Given the description of an element on the screen output the (x, y) to click on. 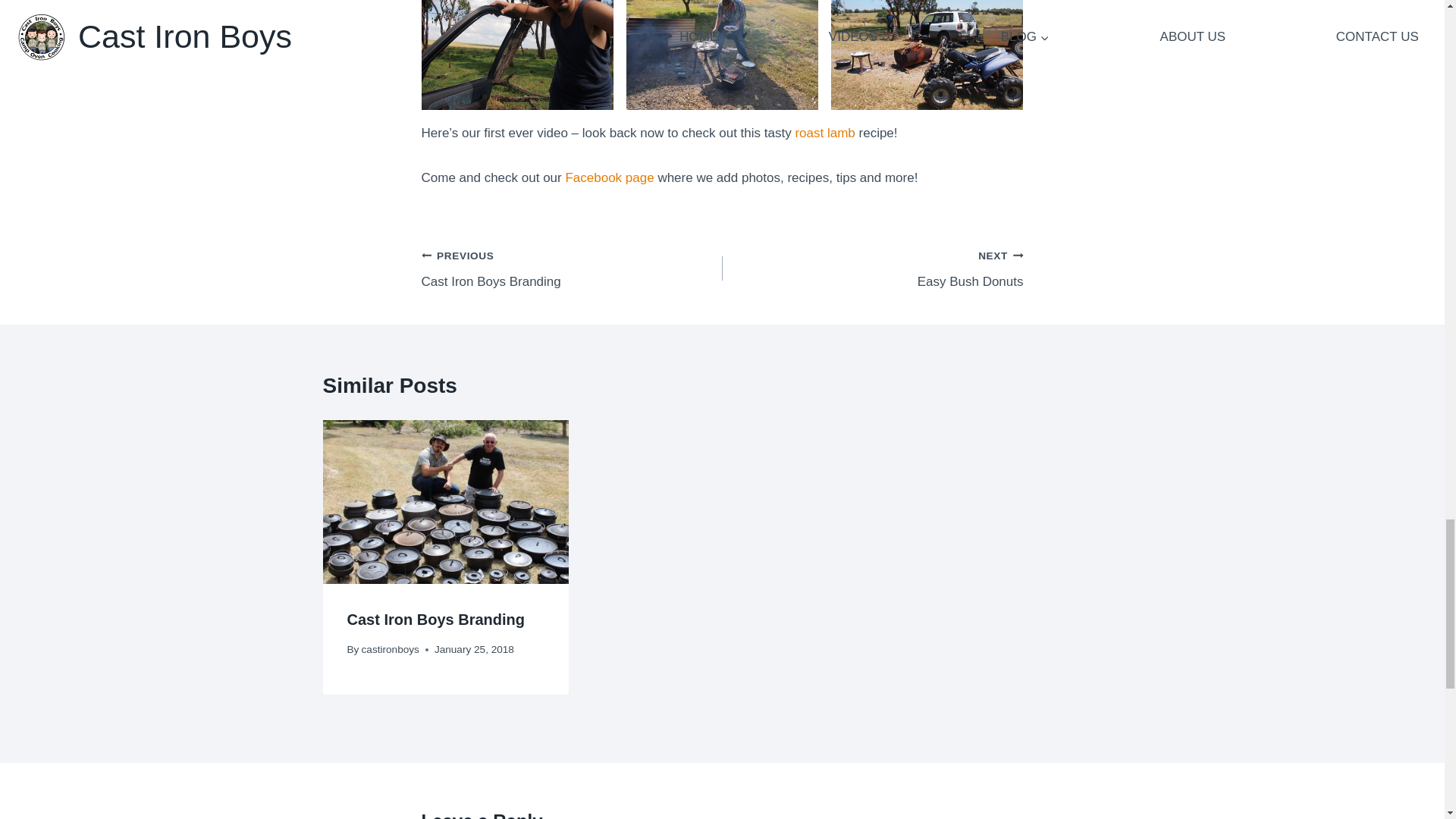
Cast Iron Boys Branding (872, 268)
Facebook page (435, 619)
castironboys (572, 268)
roast lamb (608, 177)
